Given the description of an element on the screen output the (x, y) to click on. 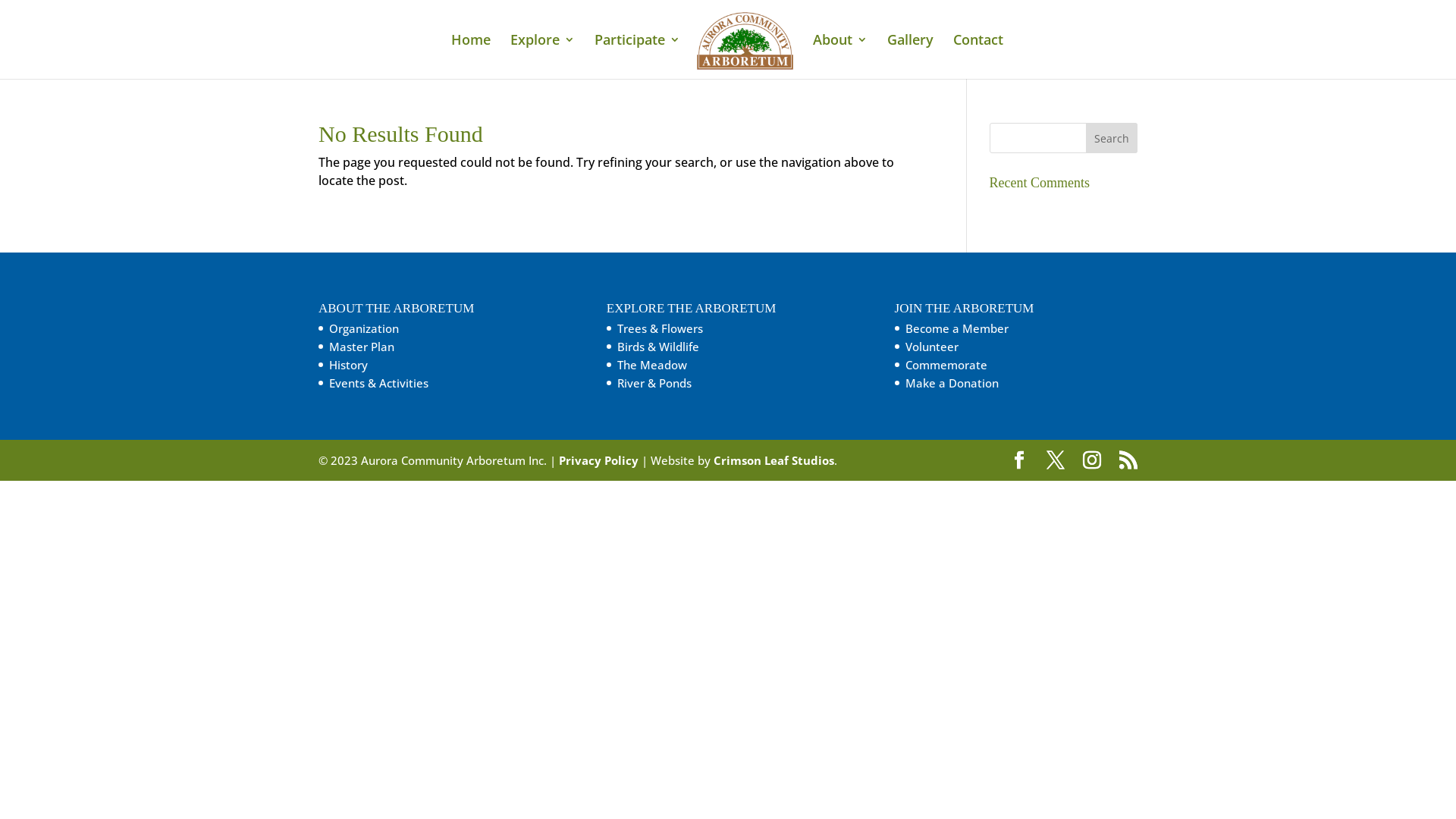
Privacy Policy Element type: text (598, 459)
Make a Donation Element type: text (951, 382)
Birds & Wildlife Element type: text (658, 346)
Home Element type: text (470, 56)
Events & Activities Element type: text (378, 382)
About Element type: text (839, 56)
Organization Element type: text (363, 327)
Trees & Flowers Element type: text (659, 327)
Become a Member Element type: text (956, 327)
History Element type: text (348, 364)
Explore Element type: text (542, 56)
Master Plan Element type: text (361, 346)
Commemorate Element type: text (946, 364)
Volunteer Element type: text (931, 346)
Crimson Leaf Studios Element type: text (773, 459)
Contact Element type: text (978, 56)
Participate Element type: text (637, 56)
Gallery Element type: text (910, 56)
Search Element type: text (1111, 137)
The Meadow Element type: text (652, 364)
River & Ponds Element type: text (654, 382)
